Given the description of an element on the screen output the (x, y) to click on. 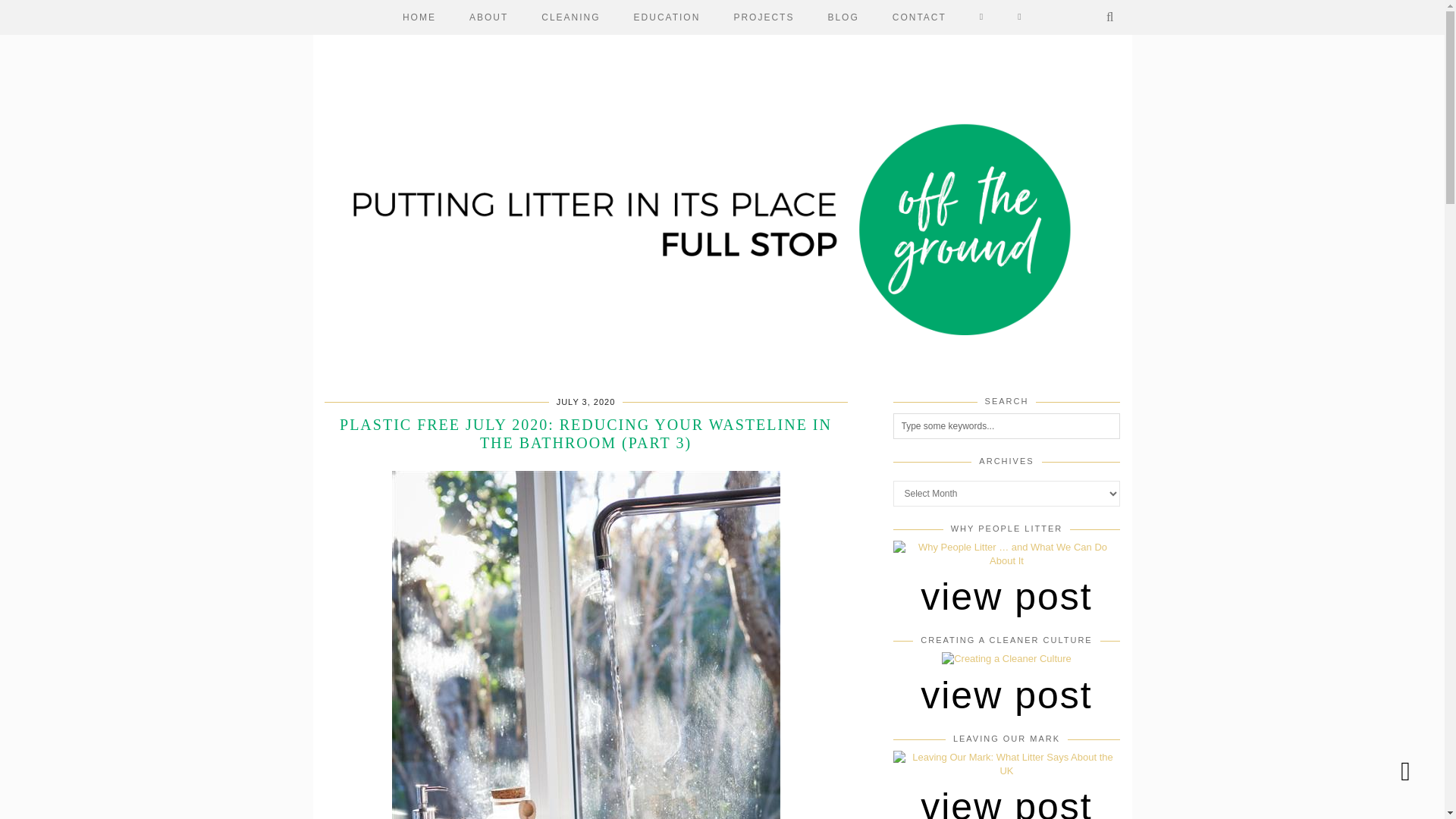
CLEANING (569, 17)
BLOG (842, 17)
HOME (418, 17)
ABOUT (488, 17)
FACEBOOK (981, 17)
CONTACT (919, 17)
PROJECTS (763, 17)
TWITTER (1020, 17)
EDUCATION (667, 17)
